Given the description of an element on the screen output the (x, y) to click on. 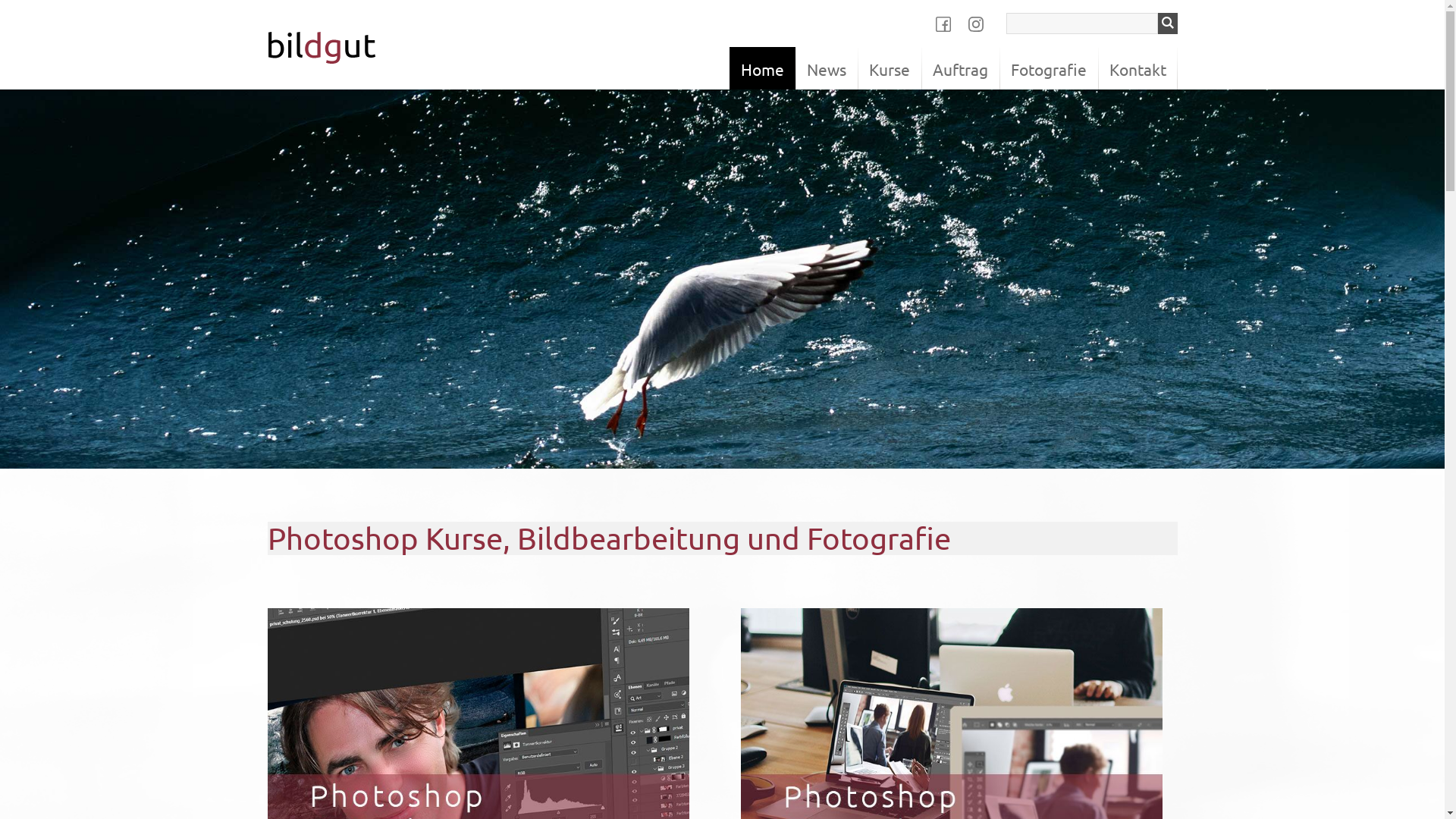
Auftrag Element type: text (959, 68)
Kontakt Element type: text (1137, 68)
Suchen Element type: text (1166, 23)
News Element type: text (825, 68)
Kurse Element type: text (888, 68)
Home Element type: text (762, 68)
Fotografie Element type: text (1048, 68)
